Given the description of an element on the screen output the (x, y) to click on. 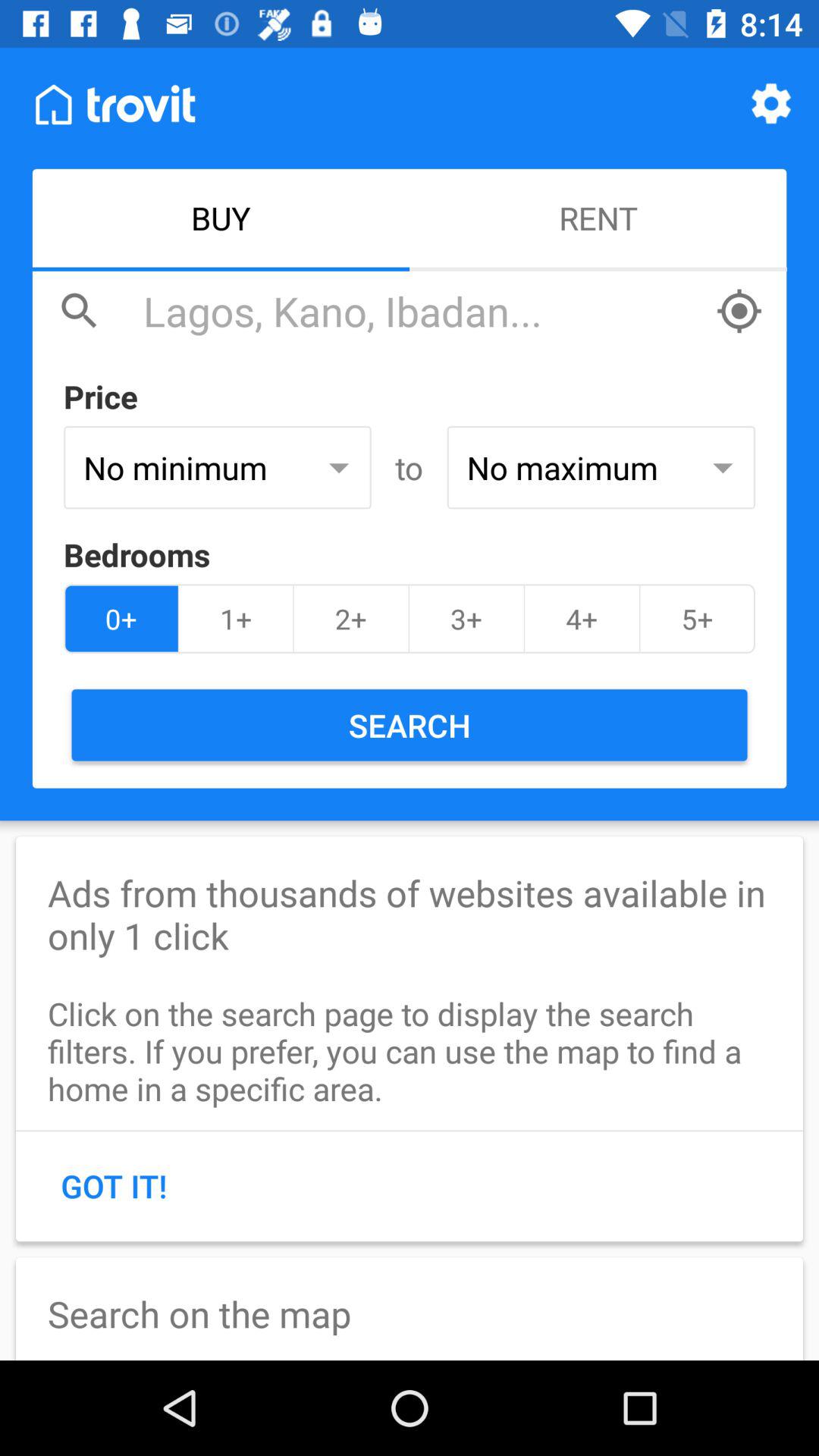
choose the 5+ icon (697, 618)
